Given the description of an element on the screen output the (x, y) to click on. 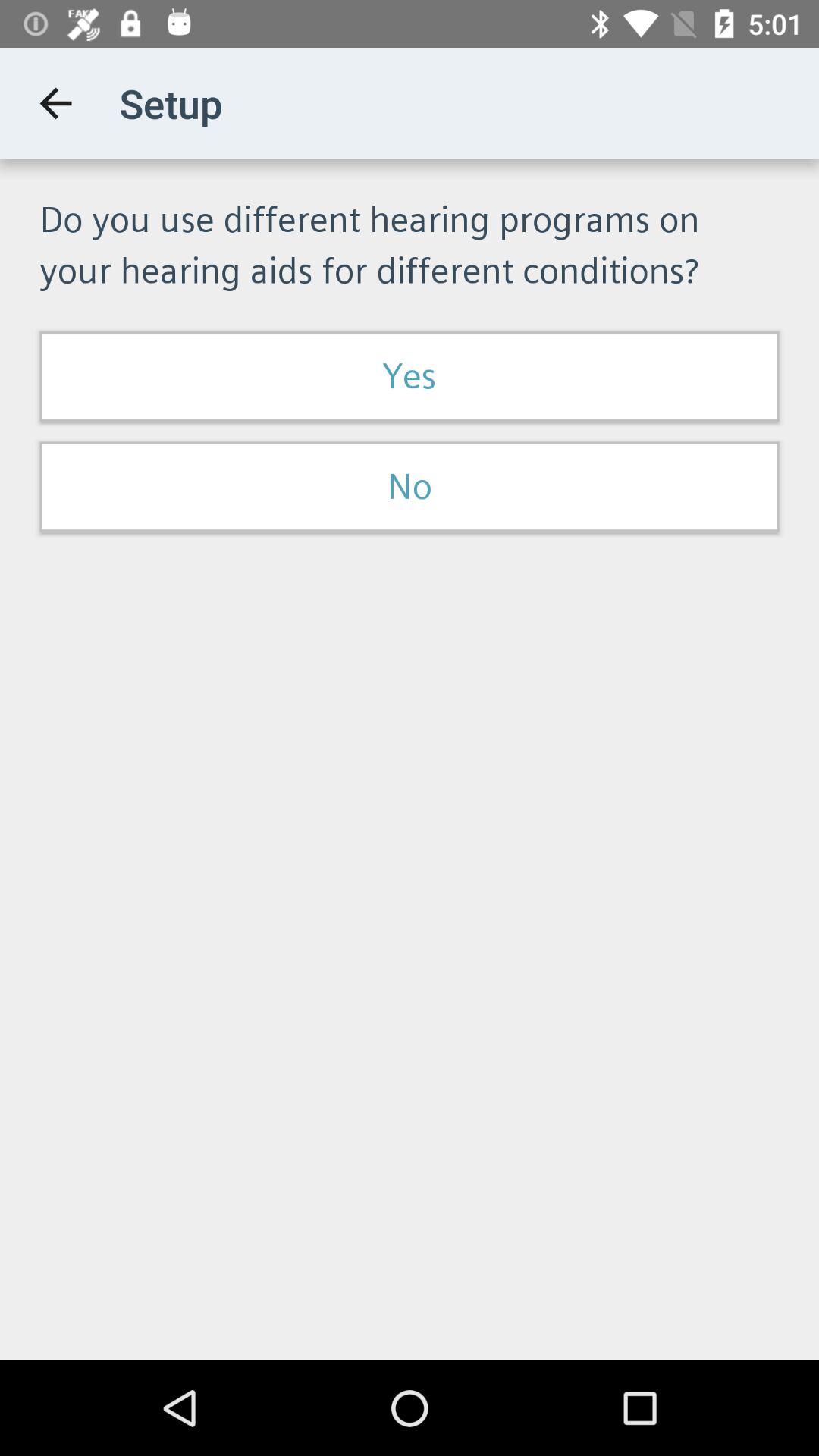
click the no (409, 486)
